Given the description of an element on the screen output the (x, y) to click on. 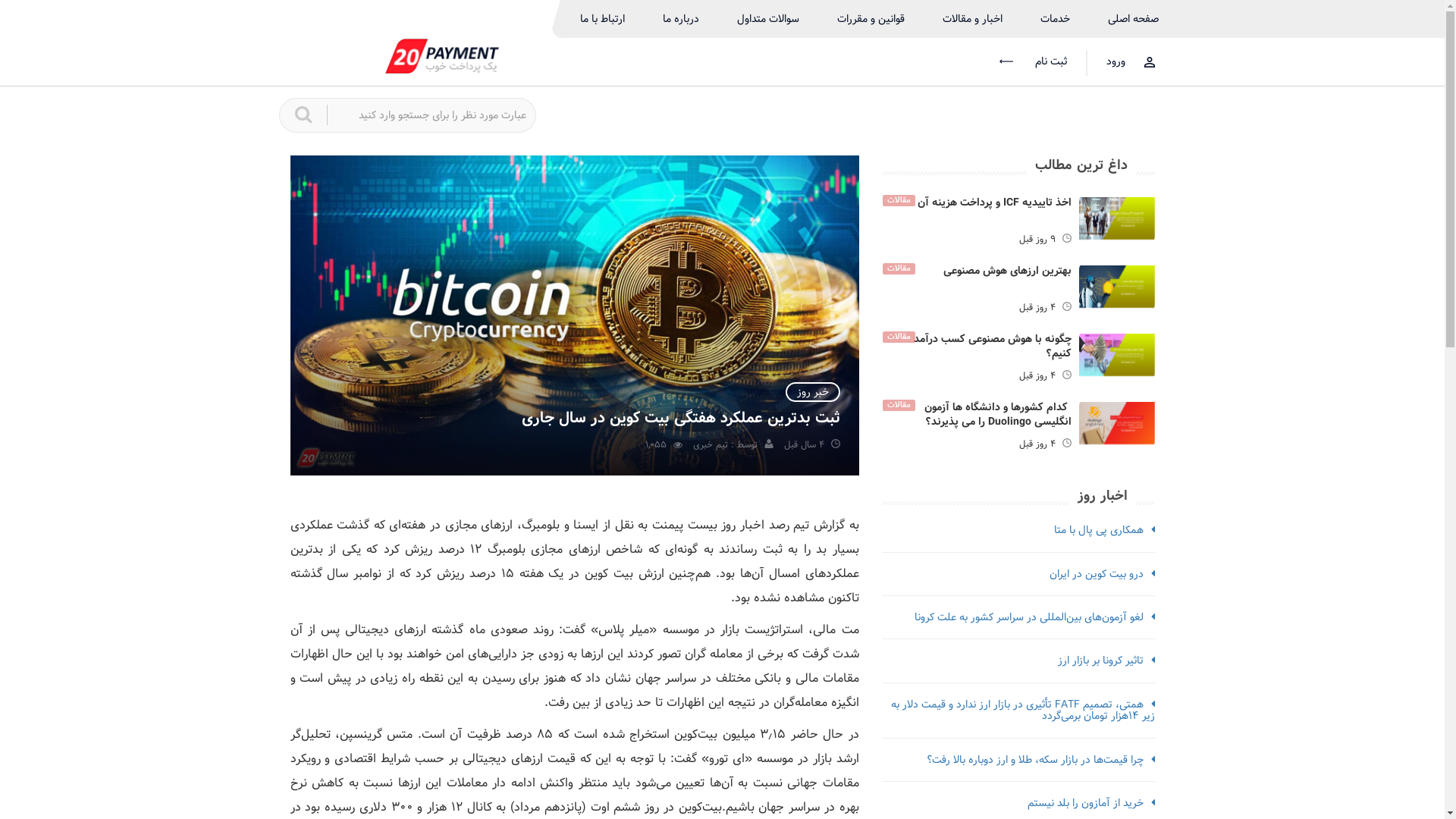
20:00 1402/08/23 Element type: hover (1065, 239)
13:57 1398/05/27 Element type: hover (835, 444)
23:07 1402/08/26 Element type: hover (1065, 375)
23:29 1402/08/26 Element type: hover (1065, 307)
00:01 1402/08/27 Element type: hover (1065, 443)
